Given the description of an element on the screen output the (x, y) to click on. 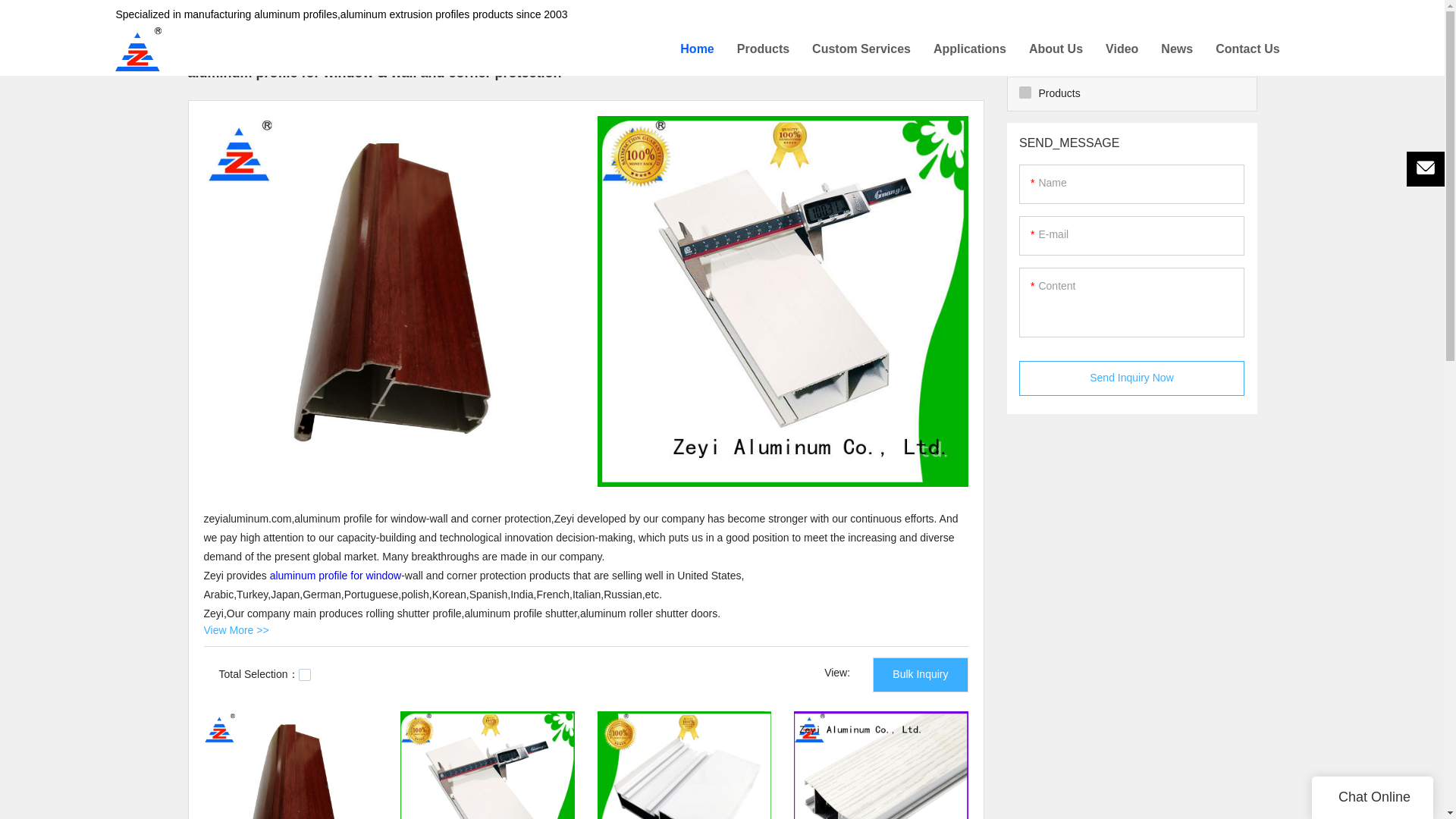
News (1176, 49)
Applications (969, 49)
Video (1121, 49)
aluminum profile for window (335, 575)
Products (762, 49)
Home (188, 13)
on (304, 674)
Custom Services (861, 49)
About Us (1056, 49)
Contact Us (1247, 49)
Home (696, 49)
AI based Content Aggregation (281, 13)
